Given the description of an element on the screen output the (x, y) to click on. 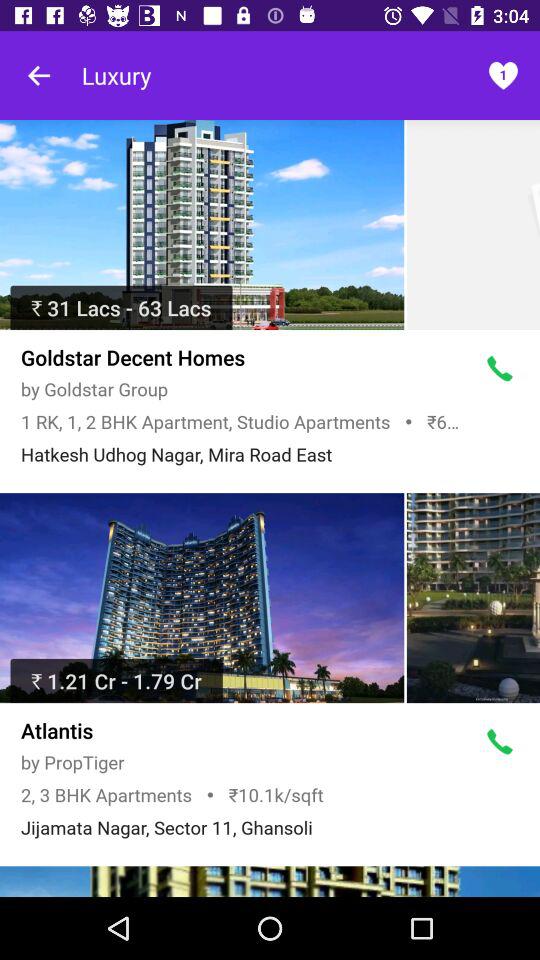
view apartments (202, 225)
